Given the description of an element on the screen output the (x, y) to click on. 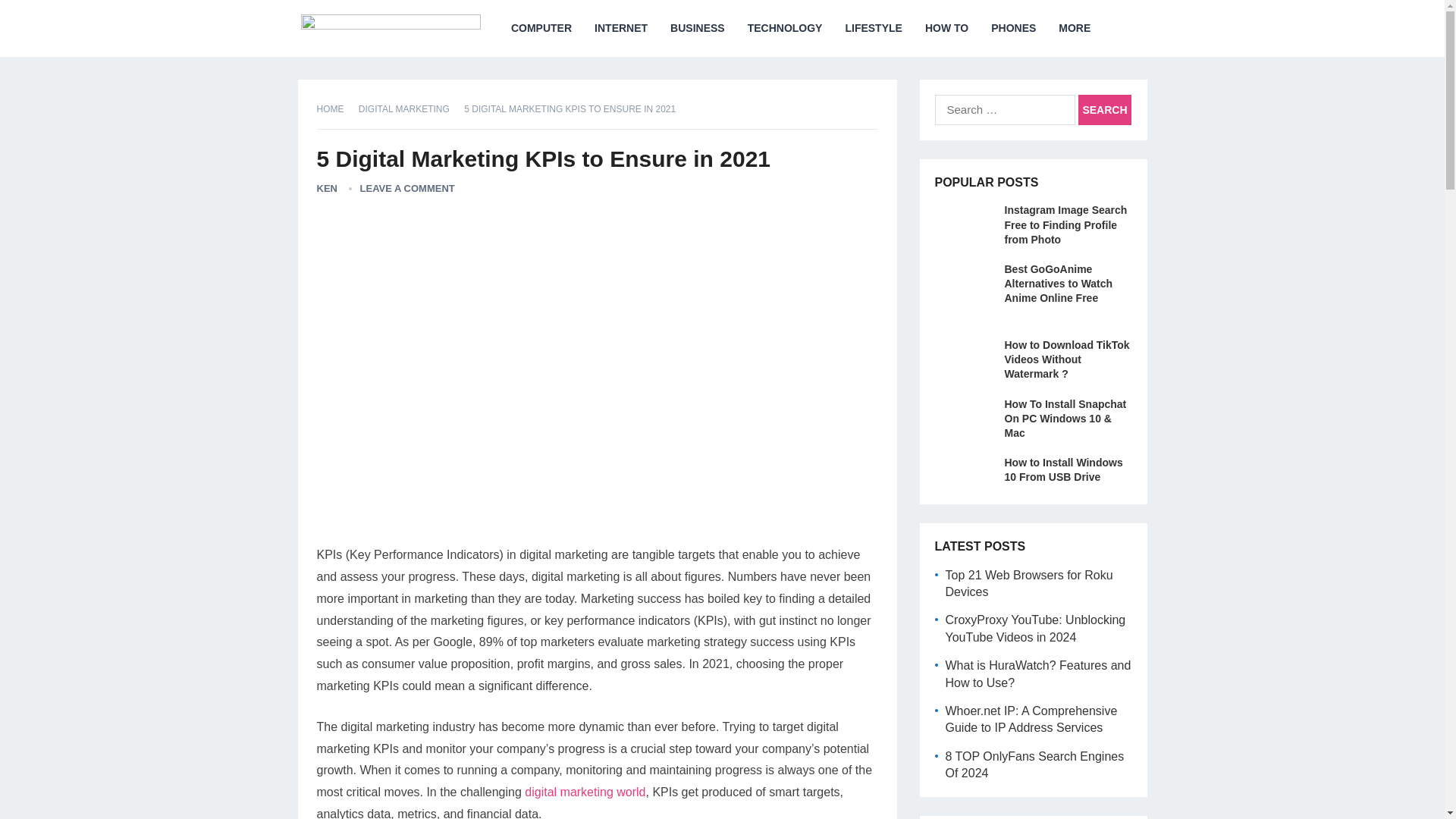
Instagram Image Search Free to Finding Profile from Photo (1065, 223)
TECHNOLOGY (785, 28)
LEAVE A COMMENT (406, 188)
Search (1104, 110)
digital marketing world (584, 791)
LIFESTYLE (872, 28)
Best GoGoAnime Alternatives to Watch Anime Online Free (1058, 282)
INTERNET (621, 28)
HOME (336, 109)
Posts by KEN (327, 188)
